Given the description of an element on the screen output the (x, y) to click on. 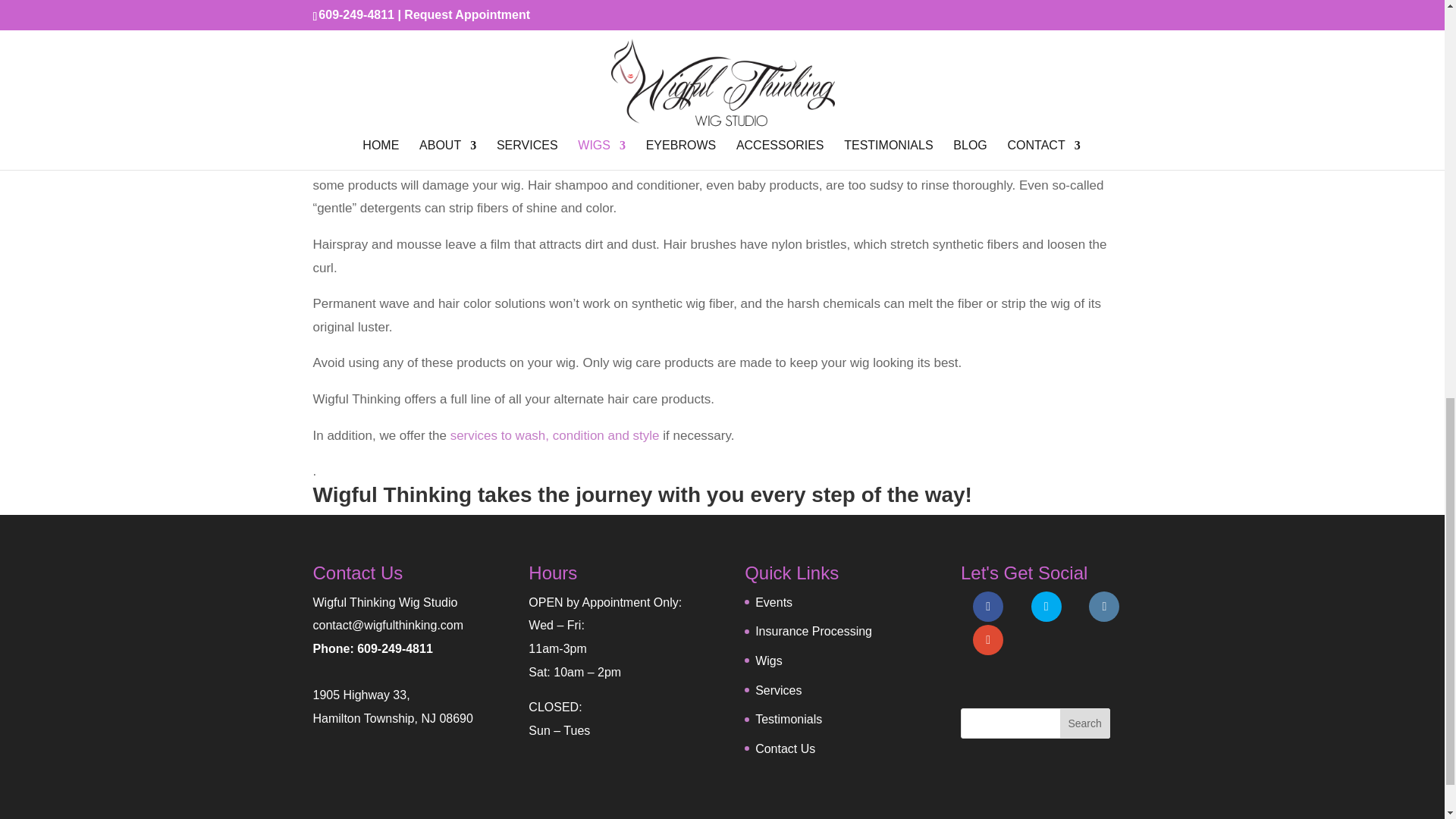
Insurance Processing (813, 631)
609-249-4811 (394, 648)
Wigs (769, 660)
Search (1084, 723)
millinery items (673, 94)
wig care products (517, 161)
Events (773, 602)
services to wash, condition and style (554, 435)
1905 Highway 33, (361, 694)
Testimonials (788, 718)
Services (778, 689)
